Given the description of an element on the screen output the (x, y) to click on. 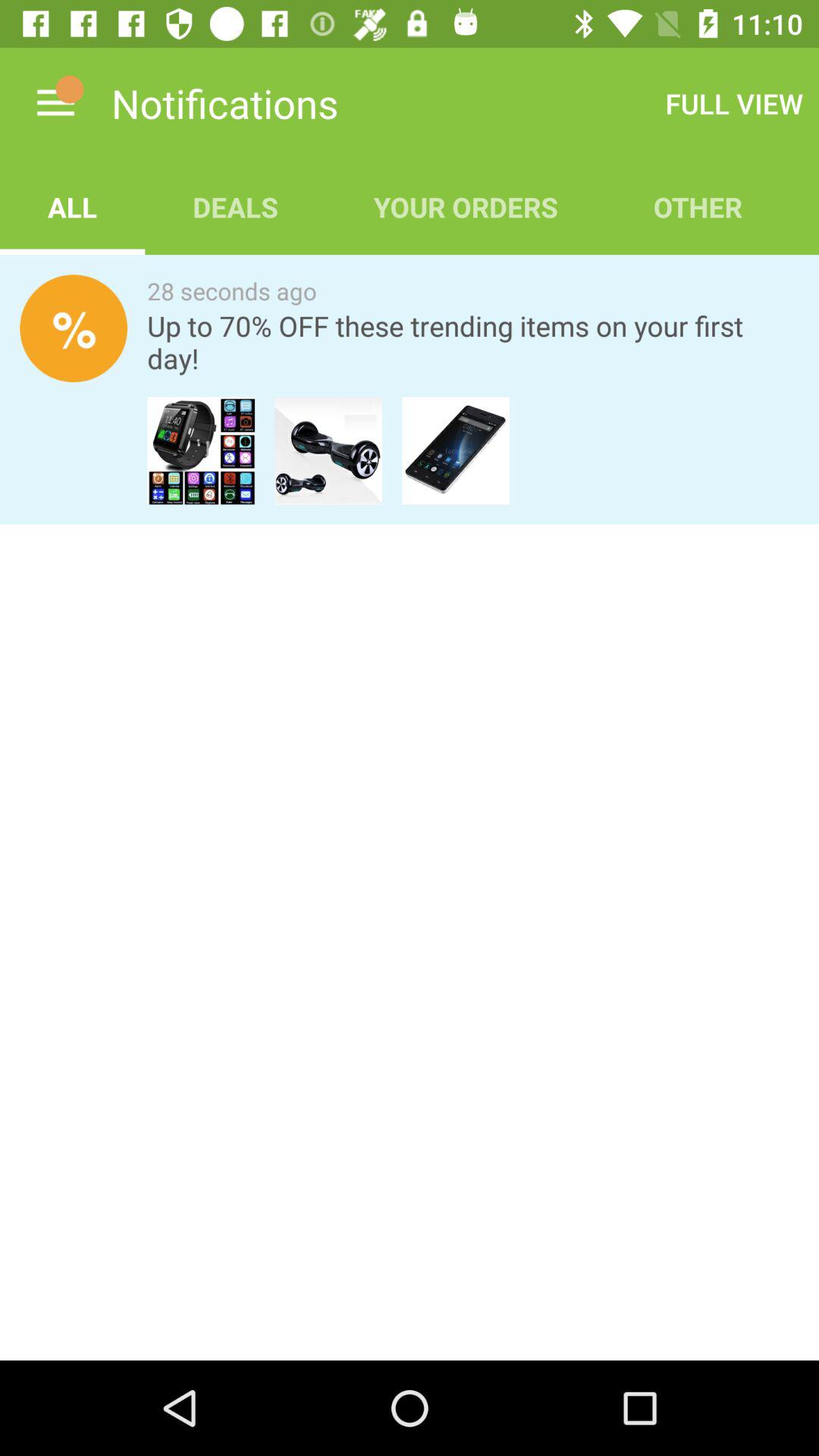
tap the other icon (697, 206)
